Given the description of an element on the screen output the (x, y) to click on. 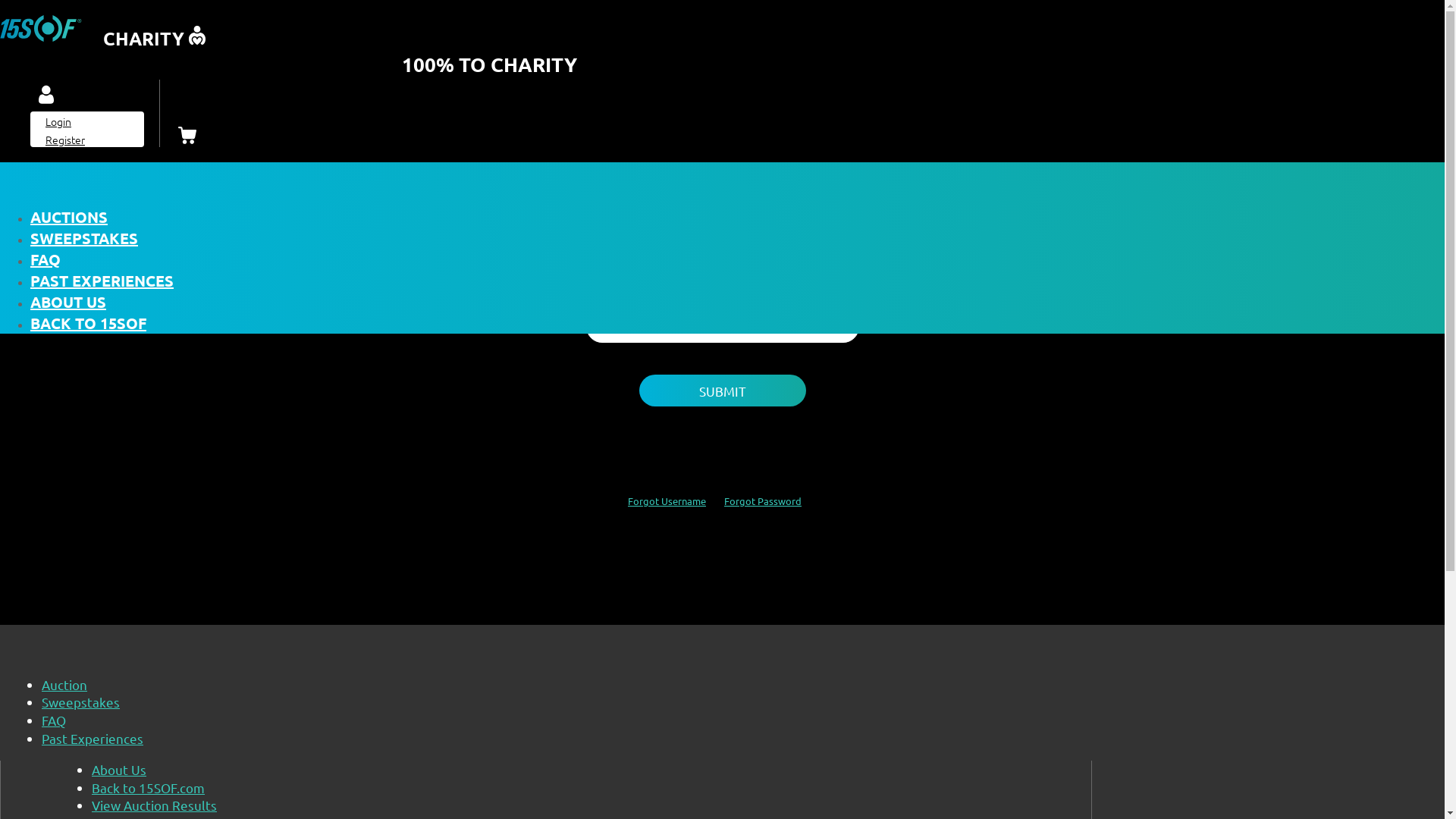
FAQ Element type: text (45, 259)
Forgot Username Element type: text (666, 500)
Sweepstakes Element type: text (80, 701)
Forgot Password Element type: text (762, 500)
Register here Element type: text (792, 183)
ABOUT US Element type: text (68, 301)
Back to 15SOF.com Element type: text (147, 787)
ACCOUNT ACCOUNT ICON Element type: text (46, 95)
PAST EXPERIENCES Element type: text (101, 280)
Login Element type: text (58, 121)
CHARITY Element type: text (102, 35)
View Auction Results Element type: text (153, 804)
About Us Element type: text (118, 769)
BACK TO 15SOF Element type: text (88, 323)
FAQ Element type: text (53, 720)
Past Experiences Element type: text (92, 738)
Register Element type: text (65, 139)
AUCTIONS Element type: text (68, 216)
SWEEPSTAKES Element type: text (84, 238)
Submit Element type: text (721, 390)
Auction Element type: text (64, 684)
